Given the description of an element on the screen output the (x, y) to click on. 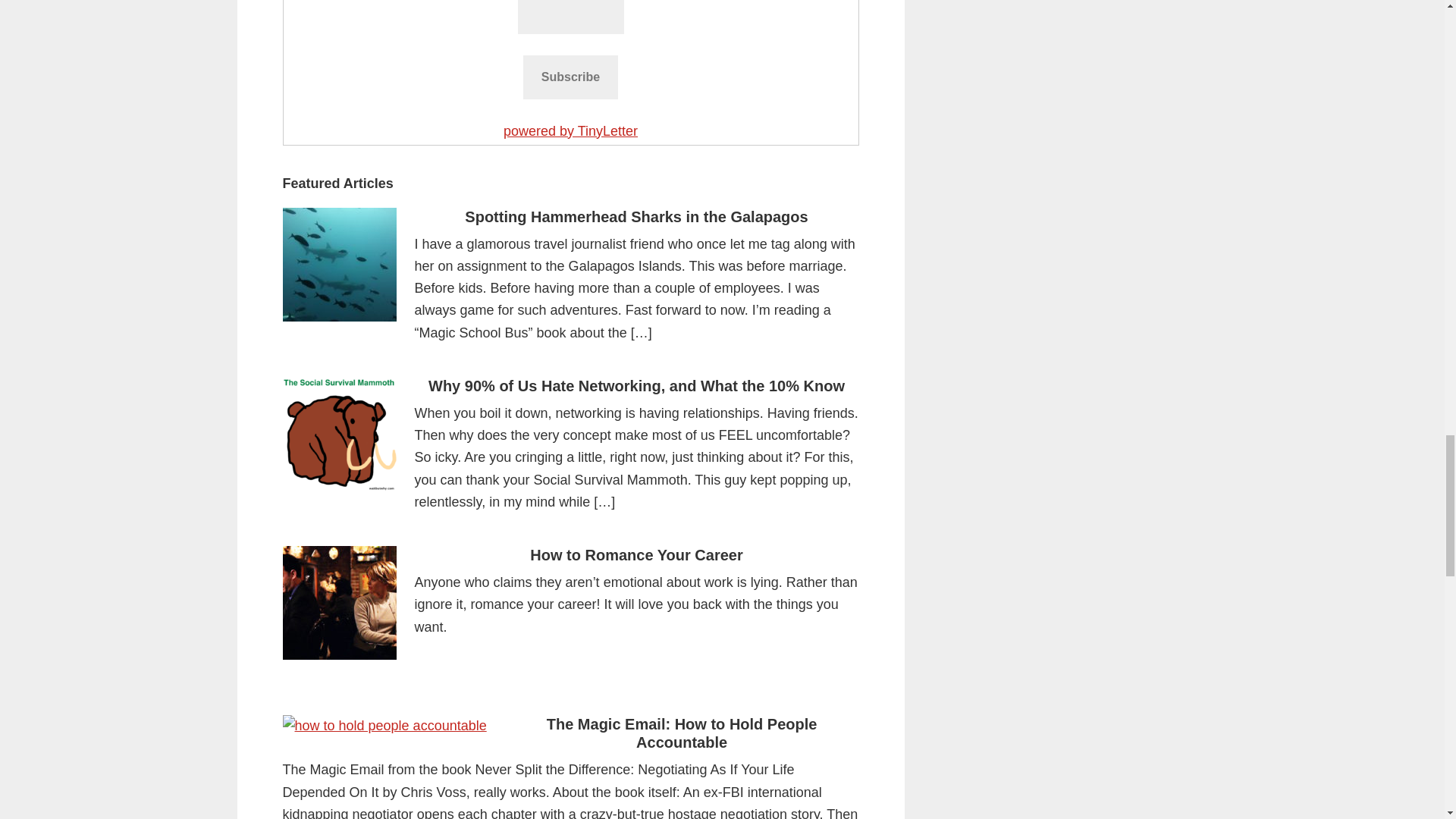
Spotting Hammerhead Sharks in the Galapagos (636, 216)
The Magic Email: How to Hold People Accountable (681, 733)
How to Romance Your Career (635, 555)
Subscribe (569, 77)
Subscribe (569, 77)
powered by TinyLetter (570, 130)
